Given the description of an element on the screen output the (x, y) to click on. 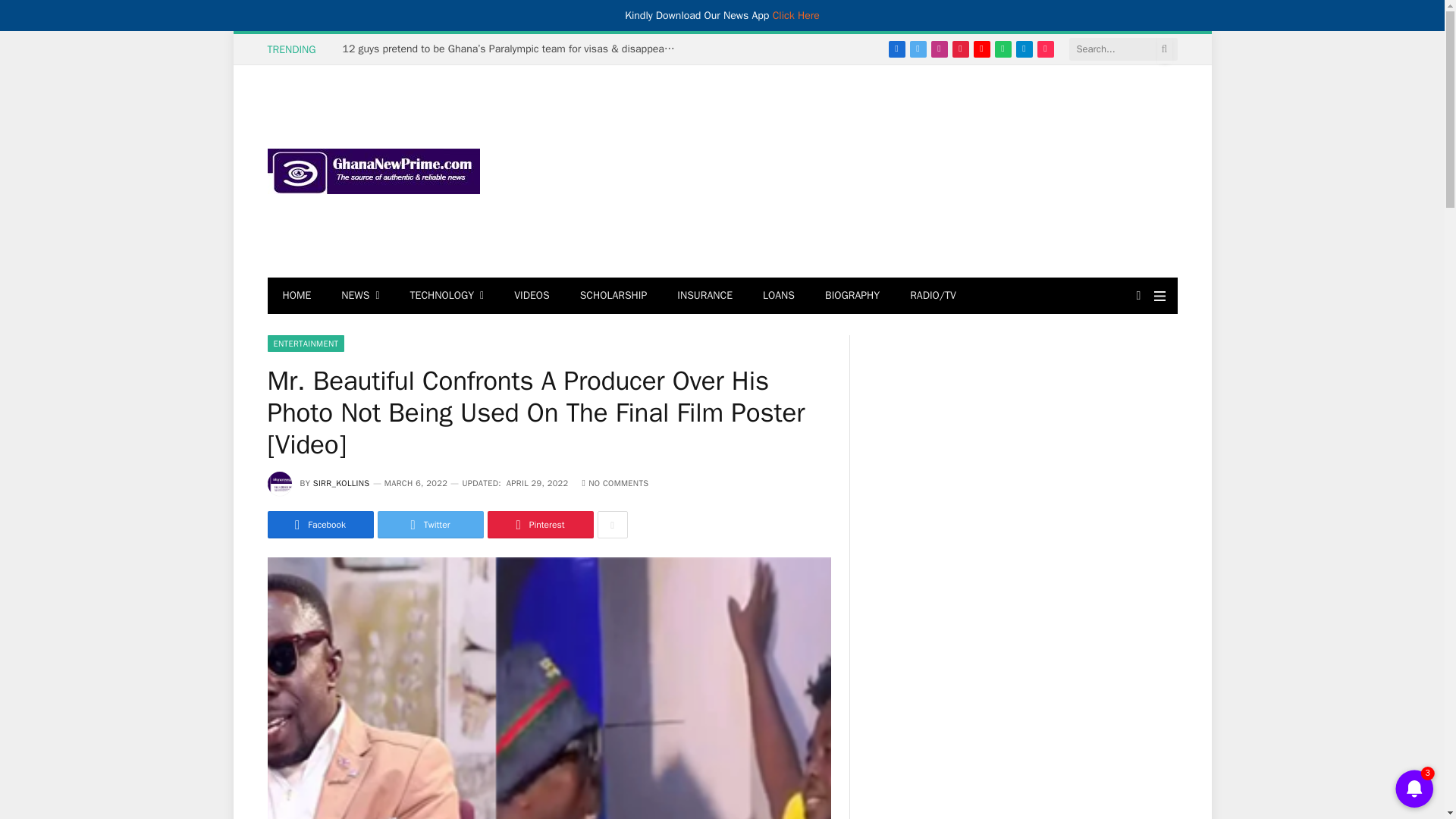
Share on Twitter (430, 524)
Pinterest (960, 48)
Twitter (918, 48)
TikTok (1045, 48)
Telegram (1024, 48)
Instagram (939, 48)
Facebook (896, 48)
WhatsApp (1002, 48)
Switch to Dark Design - easier on eyes. (1138, 295)
YouTube (982, 48)
Ghananewsprime (372, 170)
Share on Facebook (319, 524)
Advertisement (900, 171)
NEWS (360, 295)
Click Here (796, 15)
